Given the description of an element on the screen output the (x, y) to click on. 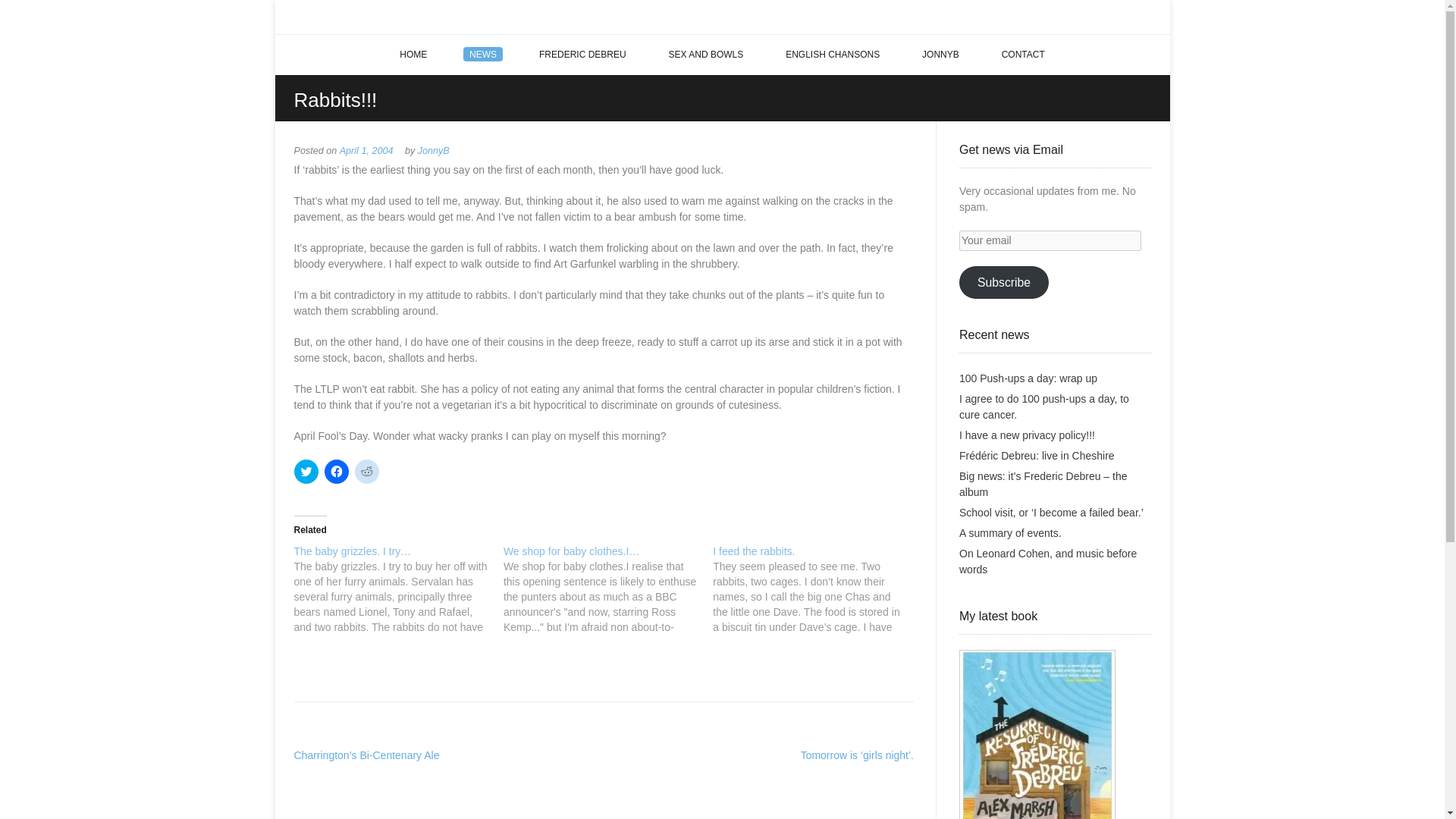
On Leonard Cohen, and music before words (1048, 561)
100 Push-ups a day: wrap up (1028, 378)
Subscribe (1003, 282)
I feed the rabbits. (753, 551)
FREDERIC DEBREU (582, 54)
Click to share on Twitter (306, 471)
CONTACT (1023, 54)
A summary of events. (1010, 532)
Click to share on Reddit (366, 471)
I have a new privacy policy!!! (1026, 435)
